Given the description of an element on the screen output the (x, y) to click on. 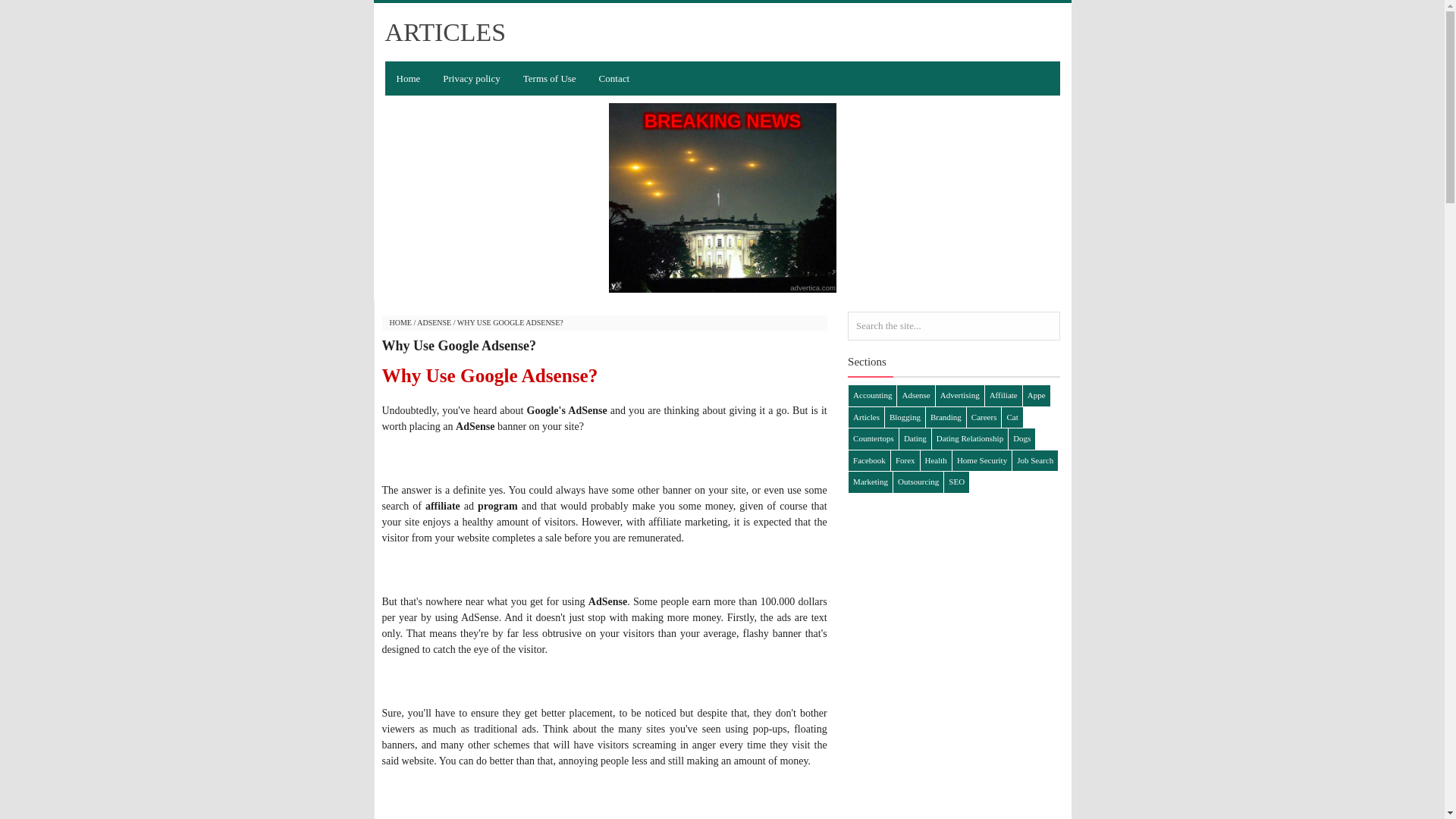
Terms of Use (550, 78)
ARTICLES (445, 31)
Home (408, 78)
Privacy policy (470, 78)
ADSENSE (433, 322)
Search the site... (953, 326)
Search the site... (953, 326)
ARTICLES (445, 31)
HOME (401, 322)
Contact (614, 78)
